Given the description of an element on the screen output the (x, y) to click on. 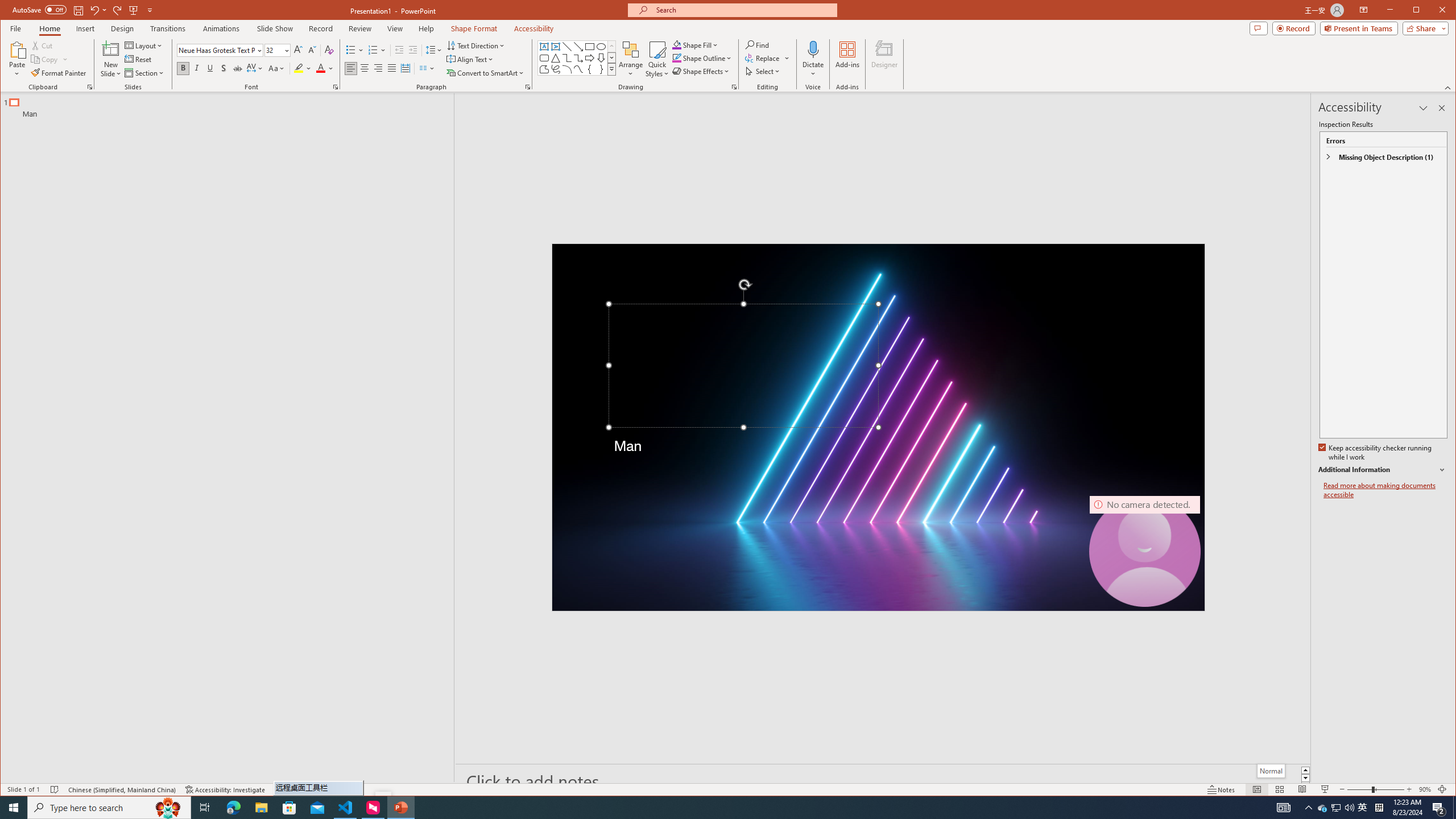
Visual Studio Code - 1 running window (345, 807)
Shape Outline Blue, Accent 1 (676, 57)
Layout (143, 45)
Increase Font Size (297, 49)
Reset (138, 59)
Text Direction (476, 45)
Left Brace (589, 69)
Change Case (276, 68)
Arc (567, 69)
Shape Fill Orange, Accent 2 (676, 44)
